Given the description of an element on the screen output the (x, y) to click on. 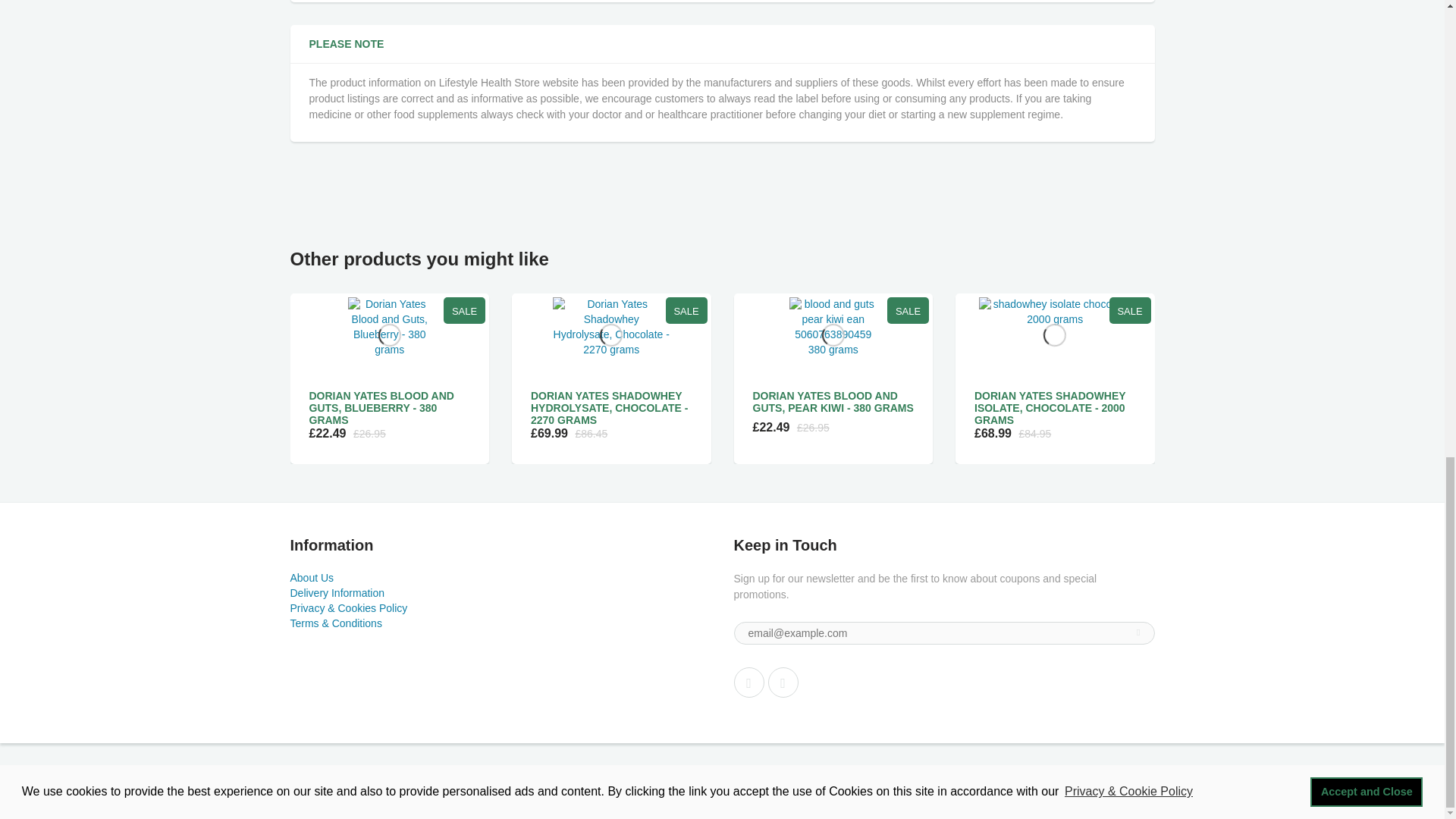
Facebook (748, 682)
DORIAN YATES BLOOD AND GUTS, BLUEBERRY - 380 GRAMS (381, 407)
DORIAN YATES SHADOWHEY HYDROLYSATE, CHOCOLATE - 2270 GRAMS (609, 407)
Instagram (782, 682)
